Given the description of an element on the screen output the (x, y) to click on. 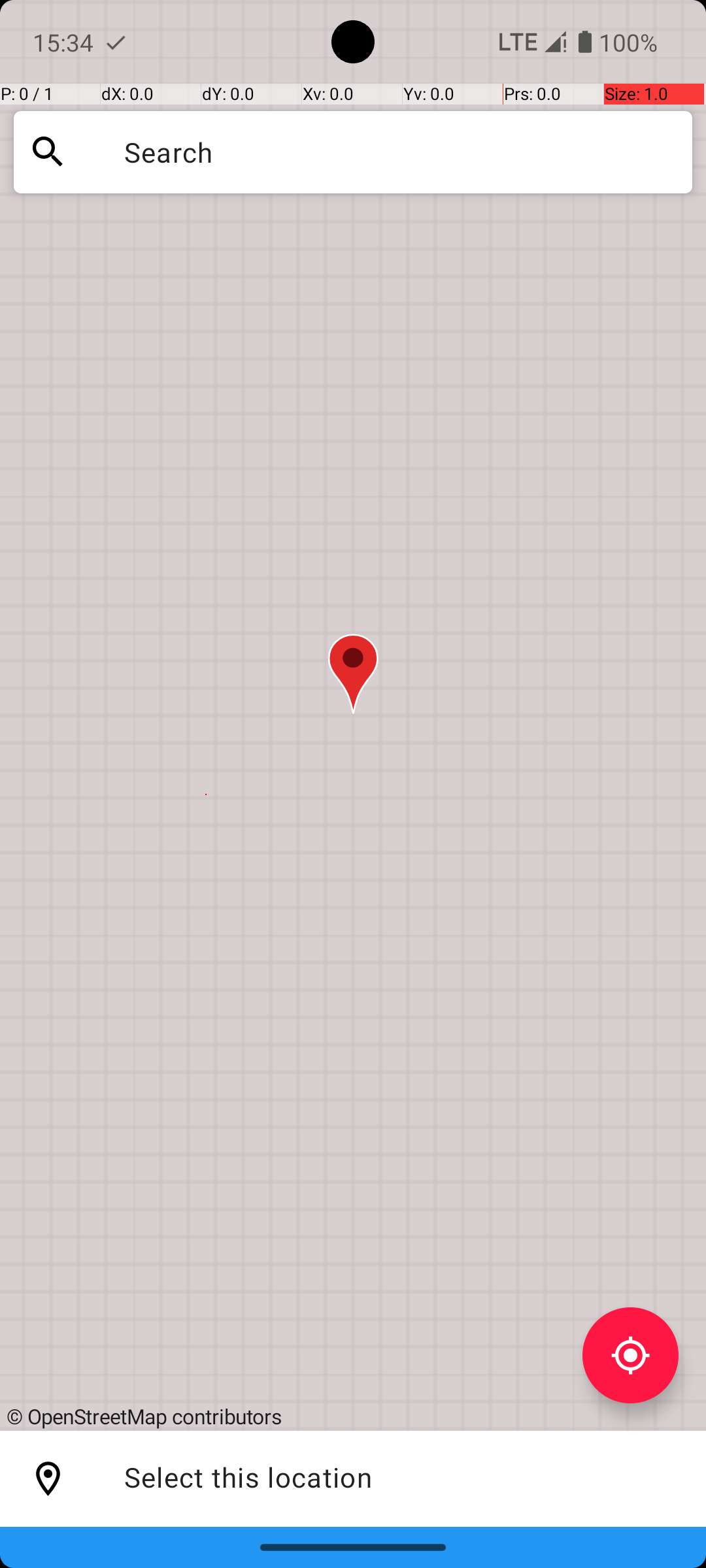
Select this location Element type: android.widget.ImageView (47, 1478)
